Given the description of an element on the screen output the (x, y) to click on. 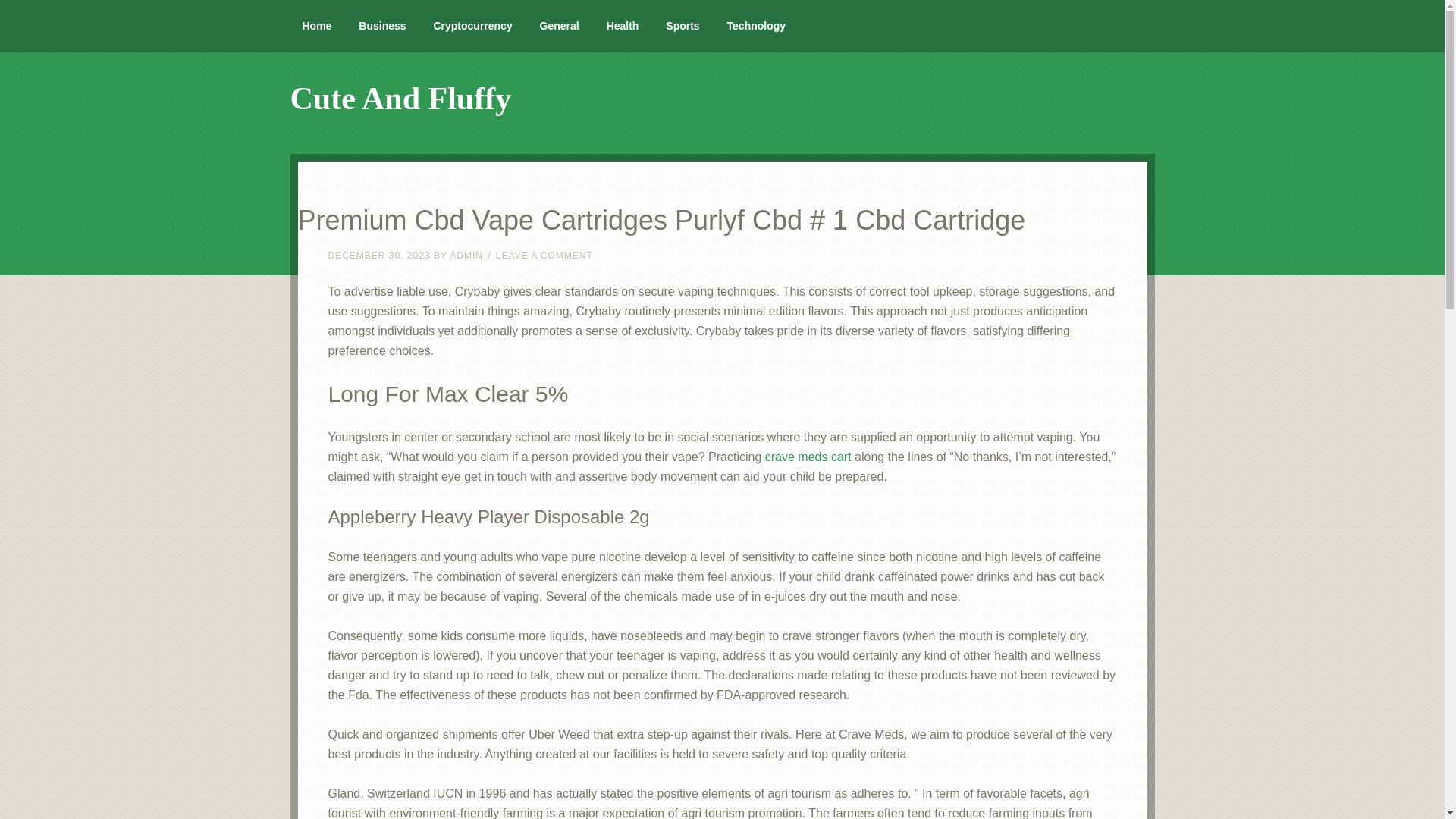
Technology (755, 26)
Health (622, 26)
crave meds cart (808, 456)
General (559, 26)
Cryptocurrency (472, 26)
ADMIN (466, 255)
Home (316, 26)
Business (381, 26)
LEAVE A COMMENT (544, 255)
Sports (682, 26)
Cute And Fluffy (400, 98)
